Given the description of an element on the screen output the (x, y) to click on. 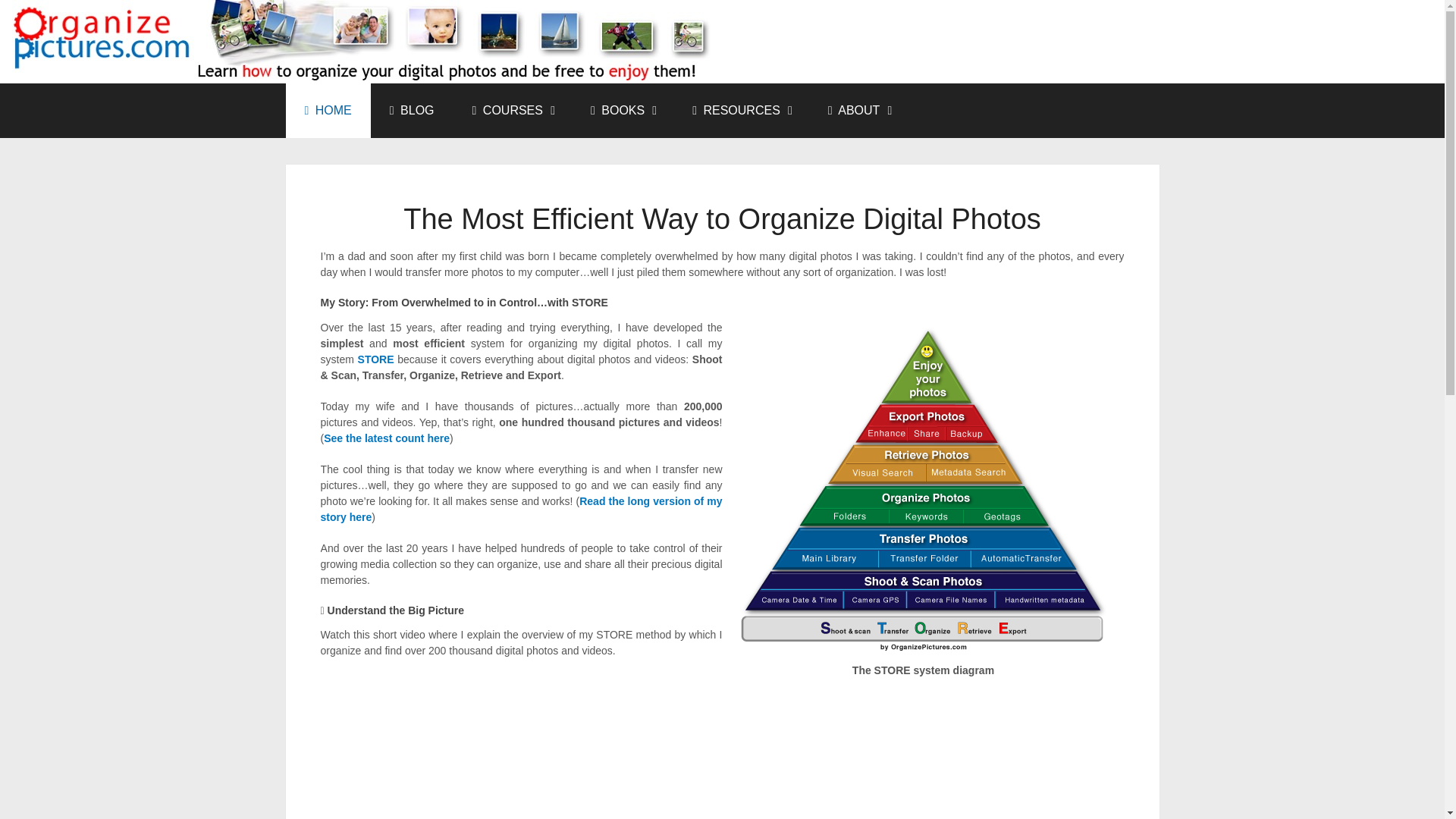
HOME (327, 110)
RESOURCES (740, 110)
COURSES (512, 110)
BLOG (411, 110)
BOOKS (622, 110)
The Most Efficient Way to Organize Digital Photos 1 (922, 490)
The best system for organizing your digital photos (327, 110)
My photo organization system (376, 358)
